Given the description of an element on the screen output the (x, y) to click on. 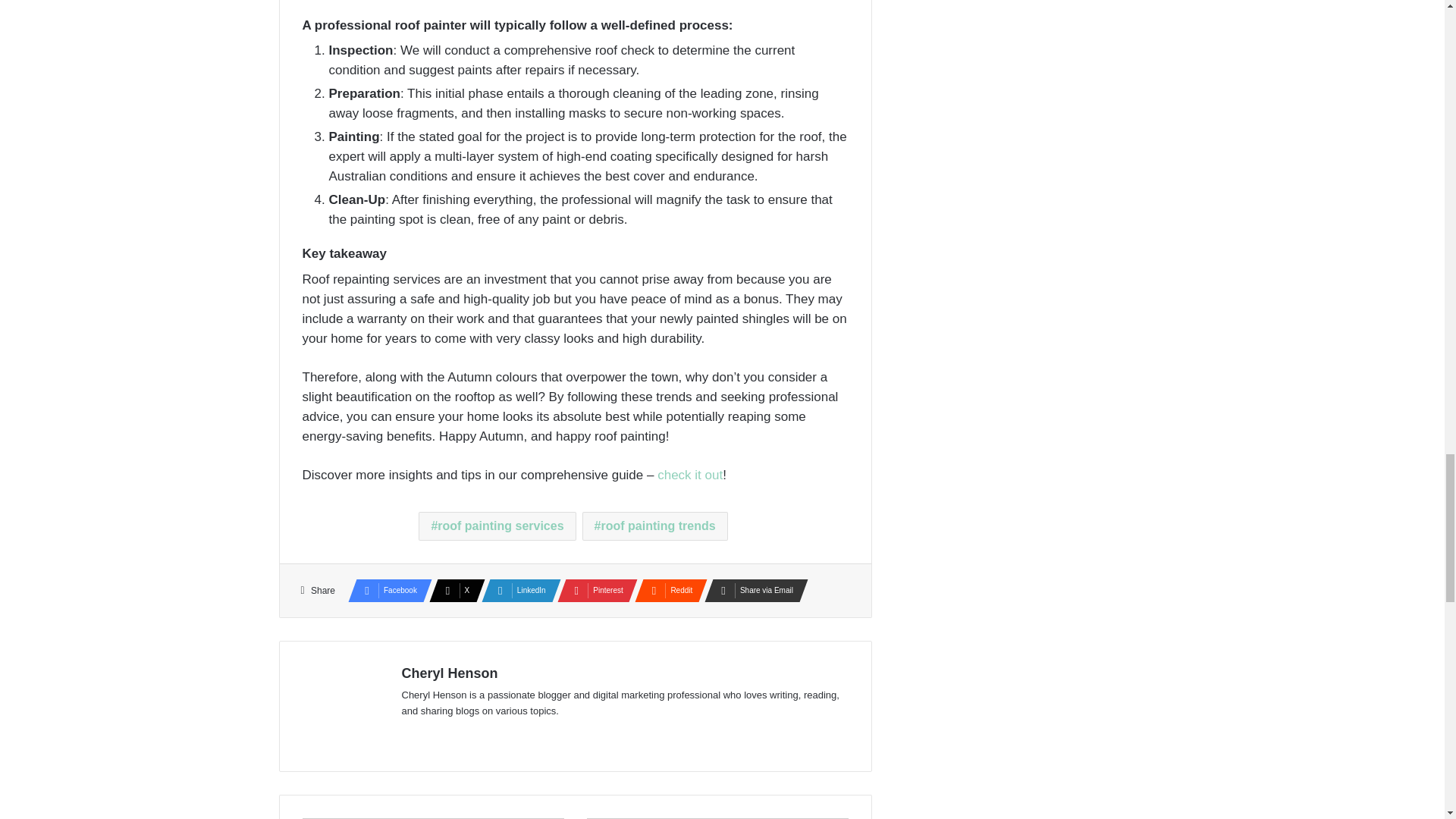
check it out (690, 474)
roof painting trends (655, 525)
roof painting services (497, 525)
LinkedIn (516, 590)
Reddit (666, 590)
Facebook (385, 590)
LinkedIn (516, 590)
X (452, 590)
Share via Email (751, 590)
Pinterest (592, 590)
